Given the description of an element on the screen output the (x, y) to click on. 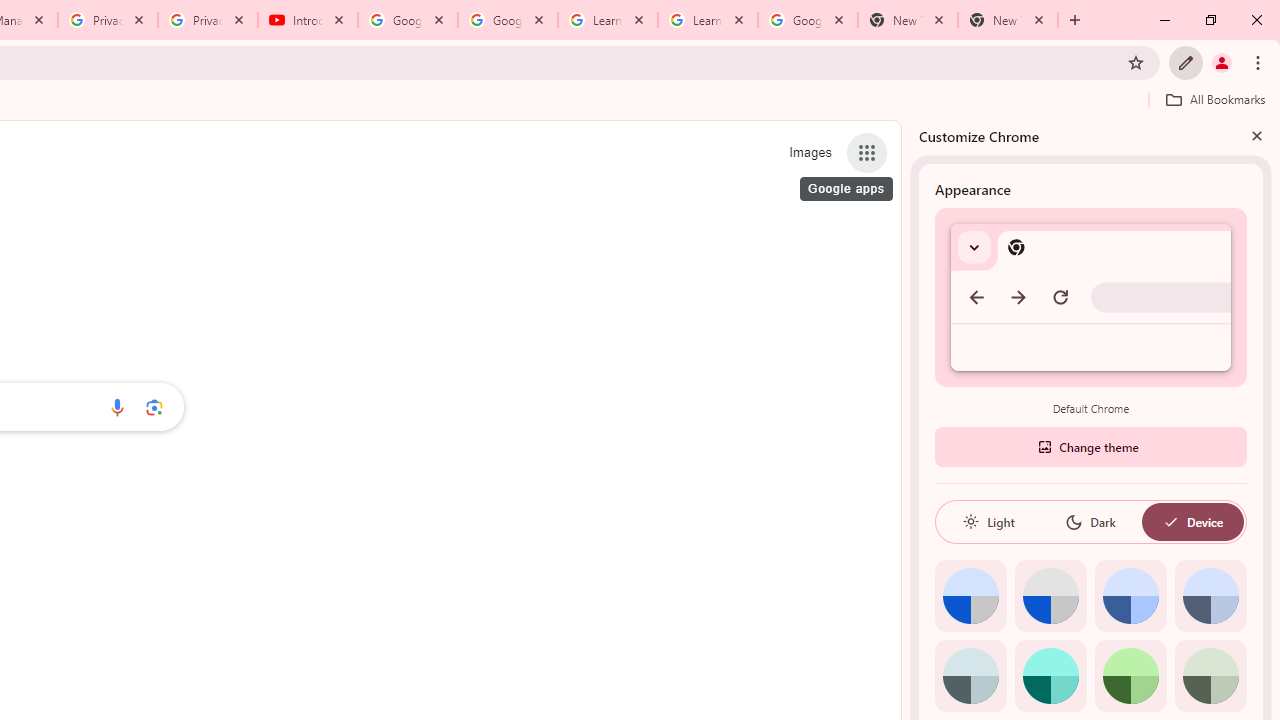
Grey (970, 676)
AutomationID: baseSvg (1170, 521)
Google Account (807, 20)
Light (988, 521)
Google Account Help (408, 20)
